Given the description of an element on the screen output the (x, y) to click on. 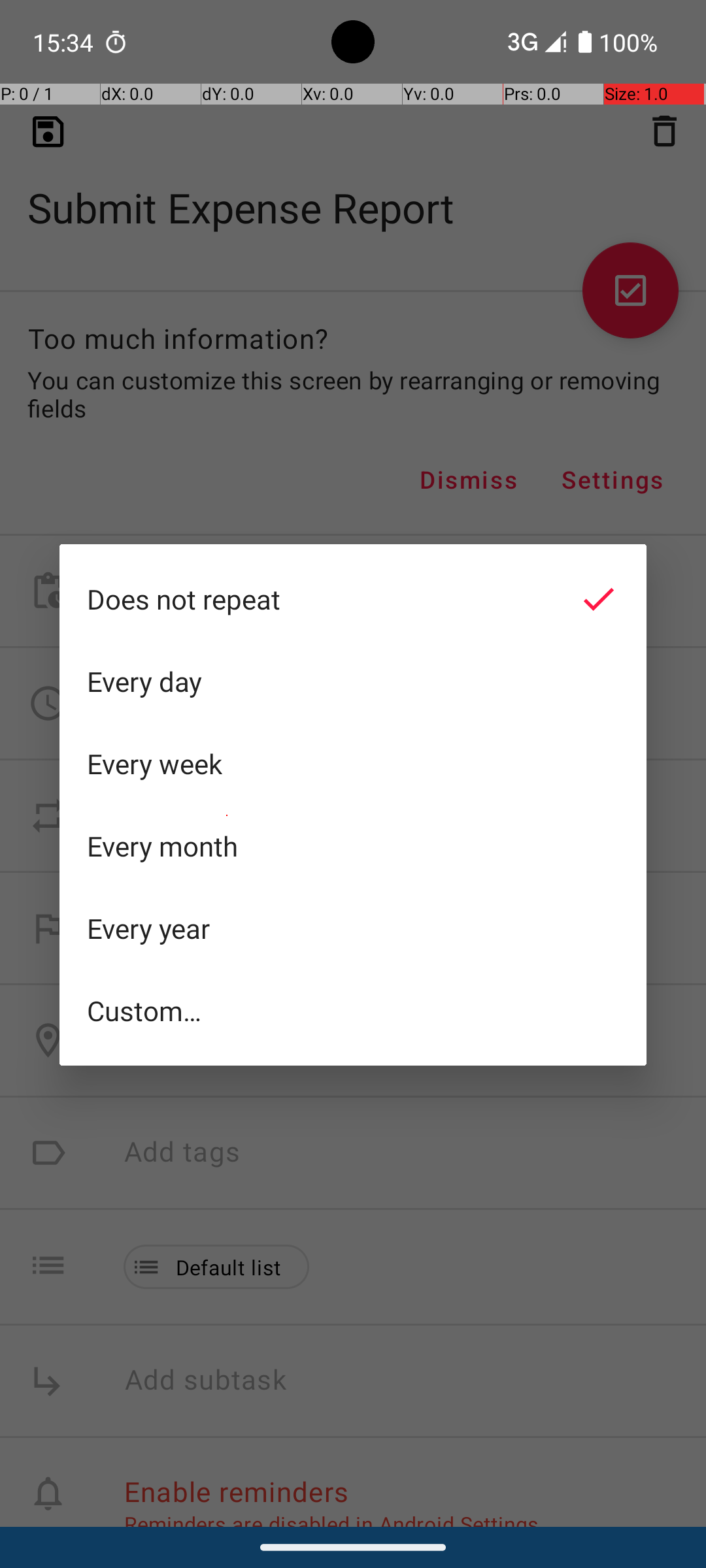
Every day Element type: android.widget.CheckedTextView (352, 681)
Every week Element type: android.widget.CheckedTextView (352, 763)
Every month Element type: android.widget.CheckedTextView (352, 845)
Every year Element type: android.widget.CheckedTextView (352, 928)
Custom… Element type: android.widget.CheckedTextView (352, 1010)
